Given the description of an element on the screen output the (x, y) to click on. 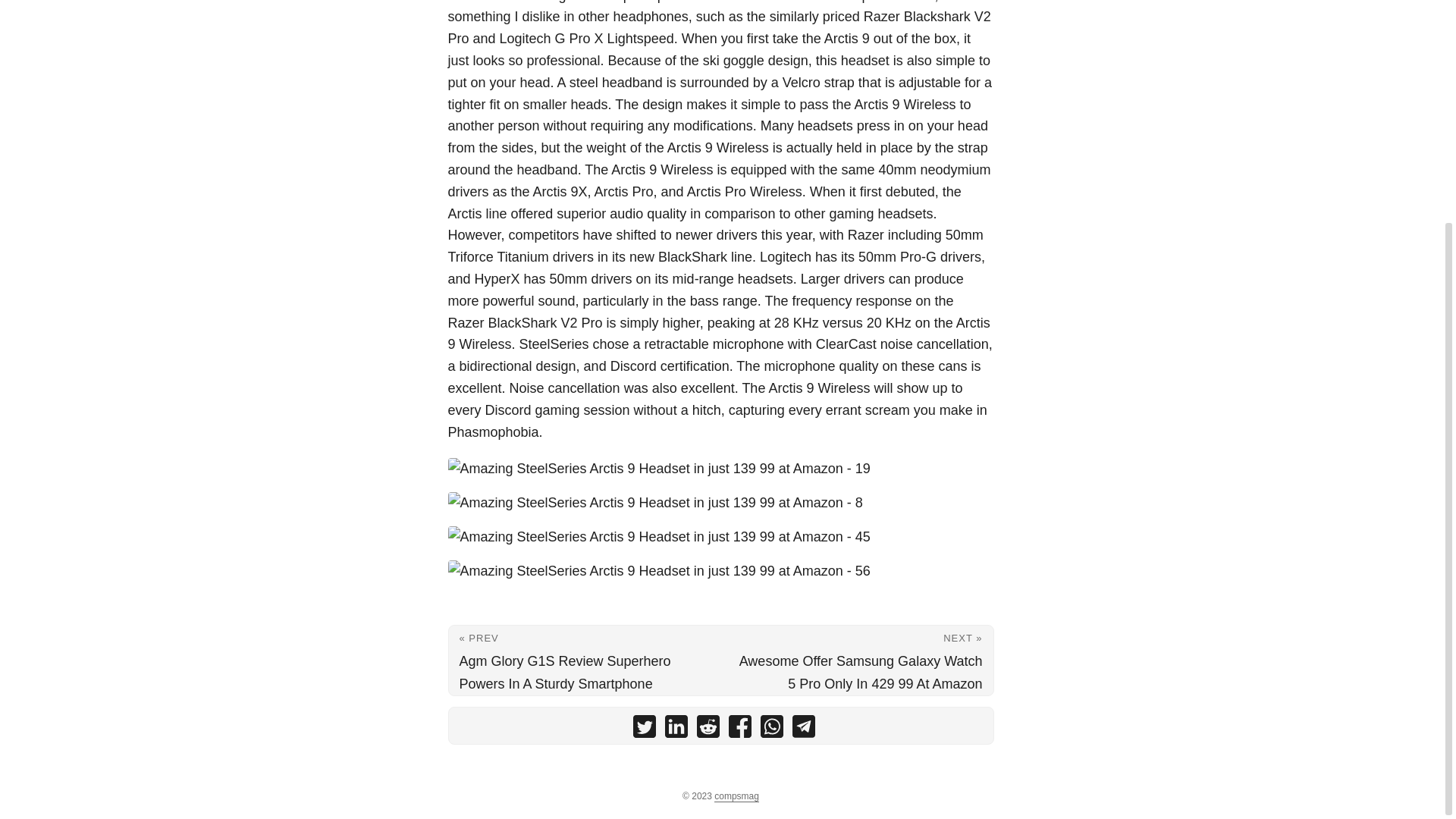
compsmag (736, 796)
